Given the description of an element on the screen output the (x, y) to click on. 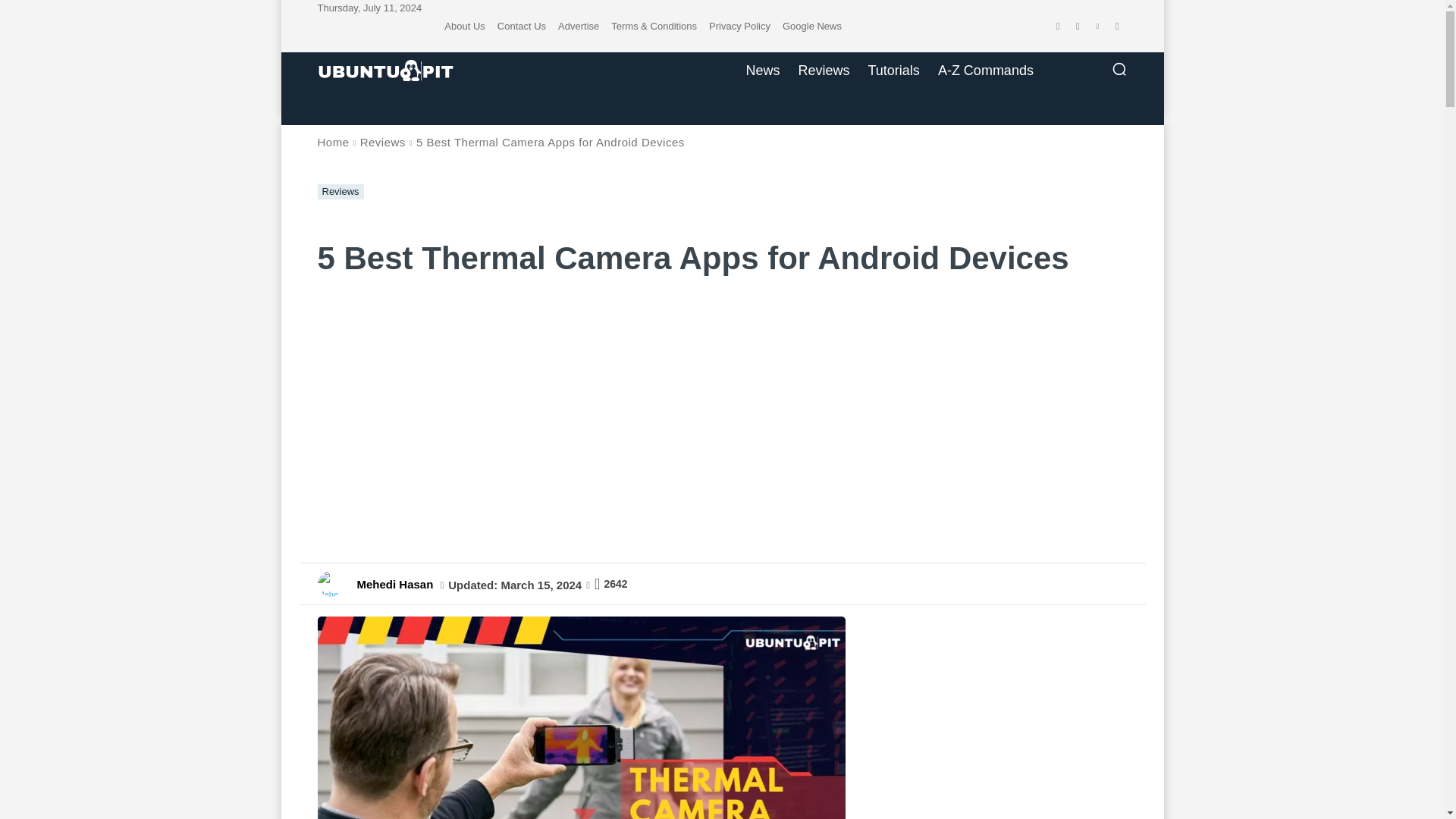
Reviews (339, 191)
Home (333, 141)
News (762, 70)
Twitter (1116, 26)
About Us (464, 26)
A-Z Commands (985, 70)
Pinterest (1096, 26)
Google News (812, 26)
View all posts in Reviews (382, 141)
Tech News, Reviews, Tutorials and More! (384, 70)
Reviews (382, 141)
Reviews (824, 70)
Contact Us (521, 26)
Mehedi Hasan (333, 583)
Flipboard (1077, 26)
